Given the description of an element on the screen output the (x, y) to click on. 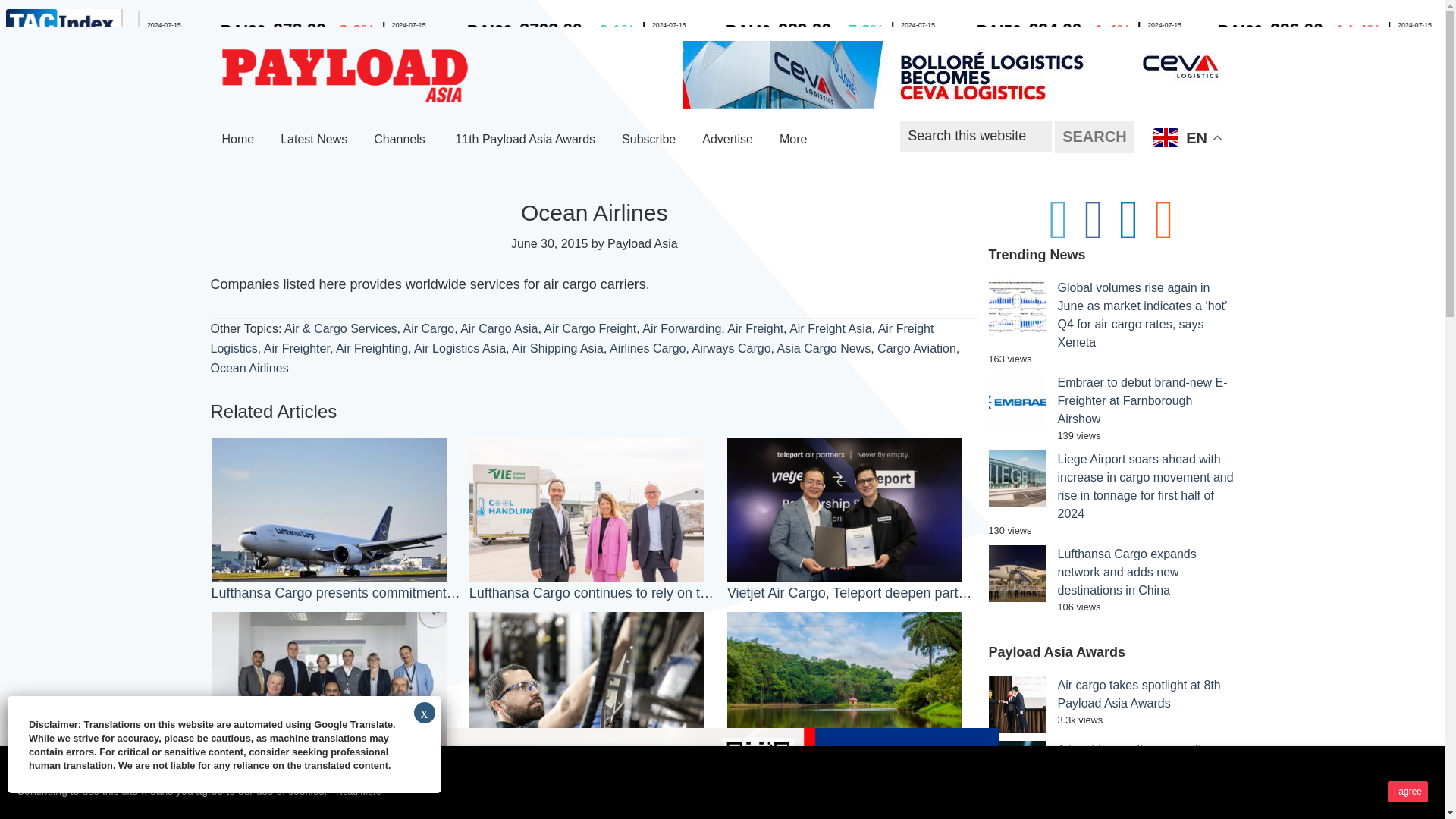
Search (1094, 136)
Payload Asia (344, 75)
Search (1094, 136)
Search (1094, 136)
Channels  (400, 139)
Home (238, 139)
More  (795, 139)
Advertise (727, 139)
11th Payload Asia Awards (525, 139)
Latest News (313, 139)
